Given the description of an element on the screen output the (x, y) to click on. 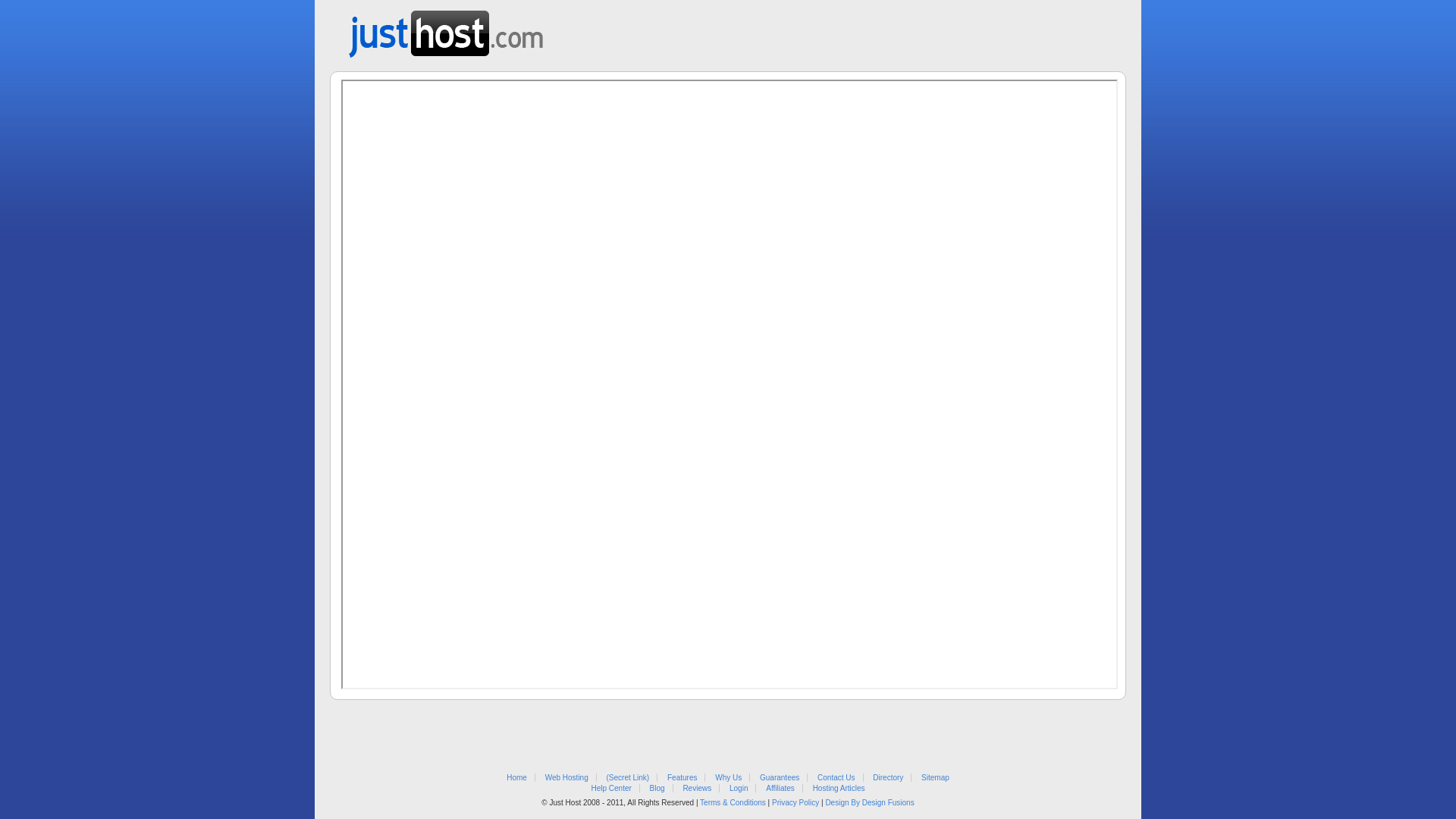
Privacy Policy Element type: text (795, 802)
Web Hosting Element type: text (566, 777)
Terms & Conditions Element type: text (732, 802)
Affiliates Element type: text (779, 788)
Hosting Articles Element type: text (838, 788)
Login Element type: text (738, 788)
Reviews Element type: text (696, 788)
Guarantees Element type: text (779, 777)
Blog Element type: text (657, 788)
Help Center Element type: text (610, 788)
Web Hosting from Just Host Element type: text (445, 28)
Contact Us Element type: text (835, 777)
Features Element type: text (681, 777)
(Secret Link) Element type: text (627, 777)
Sitemap Element type: text (935, 777)
Design By Design Fusions Element type: text (869, 802)
Why Us Element type: text (728, 777)
Home Element type: text (516, 777)
Directory Element type: text (887, 777)
